Given the description of an element on the screen output the (x, y) to click on. 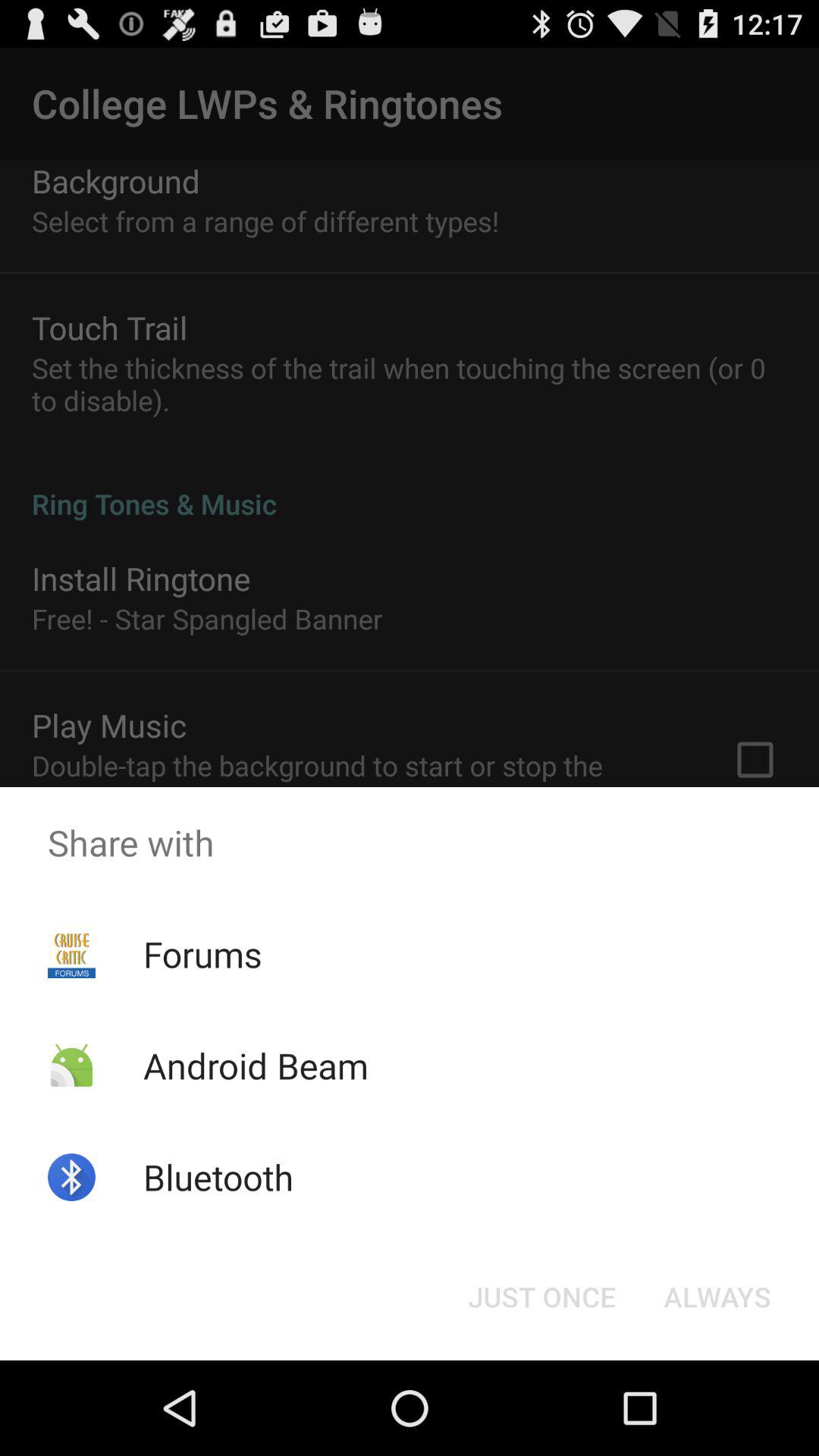
choose item at the bottom (541, 1296)
